Given the description of an element on the screen output the (x, y) to click on. 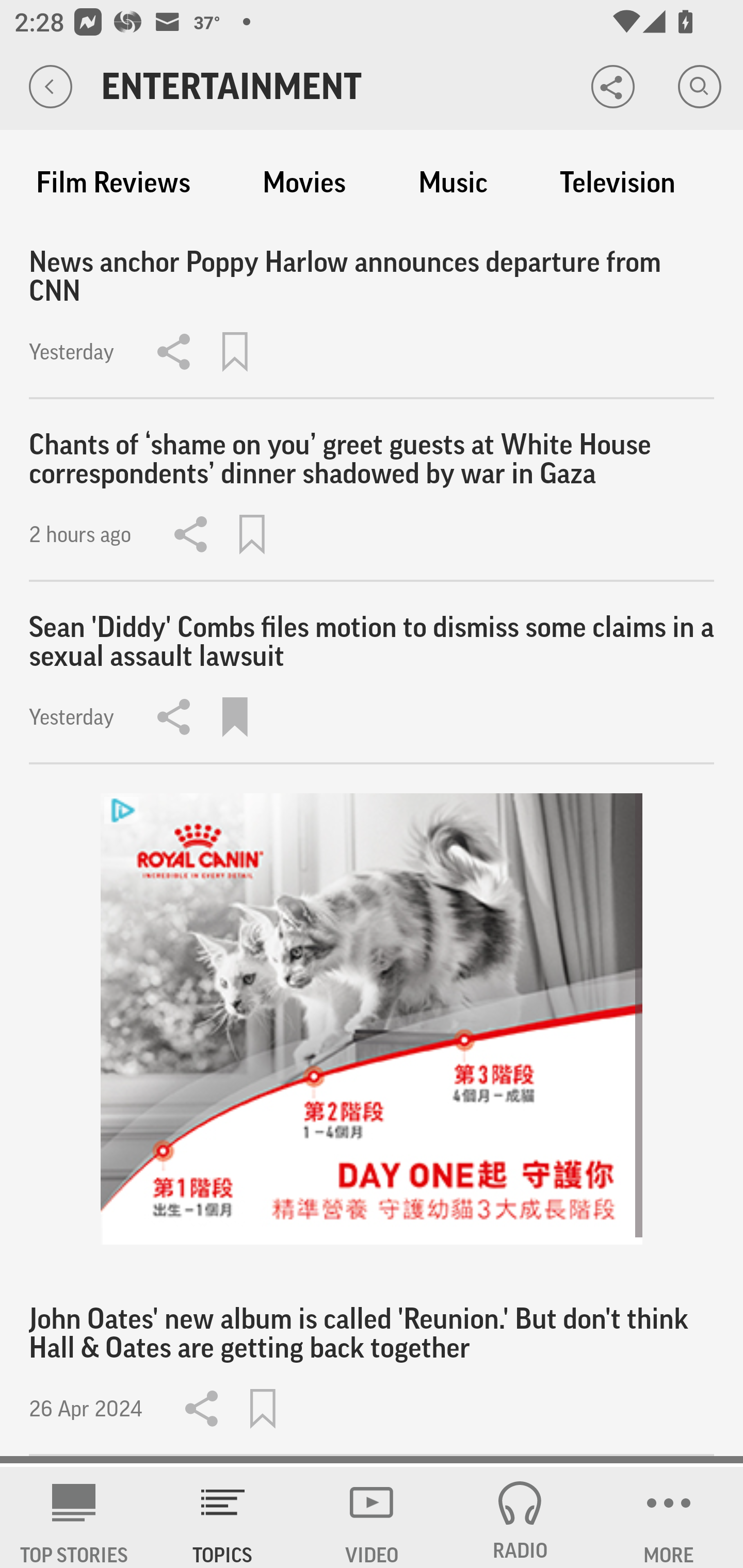
Film Reviews (112, 182)
Movies (304, 182)
Music (452, 182)
Television (617, 182)
ooulh2nc_300x250 (371, 1018)
AP News TOP STORIES (74, 1517)
TOPICS (222, 1517)
VIDEO (371, 1517)
RADIO (519, 1517)
MORE (668, 1517)
